Given the description of an element on the screen output the (x, y) to click on. 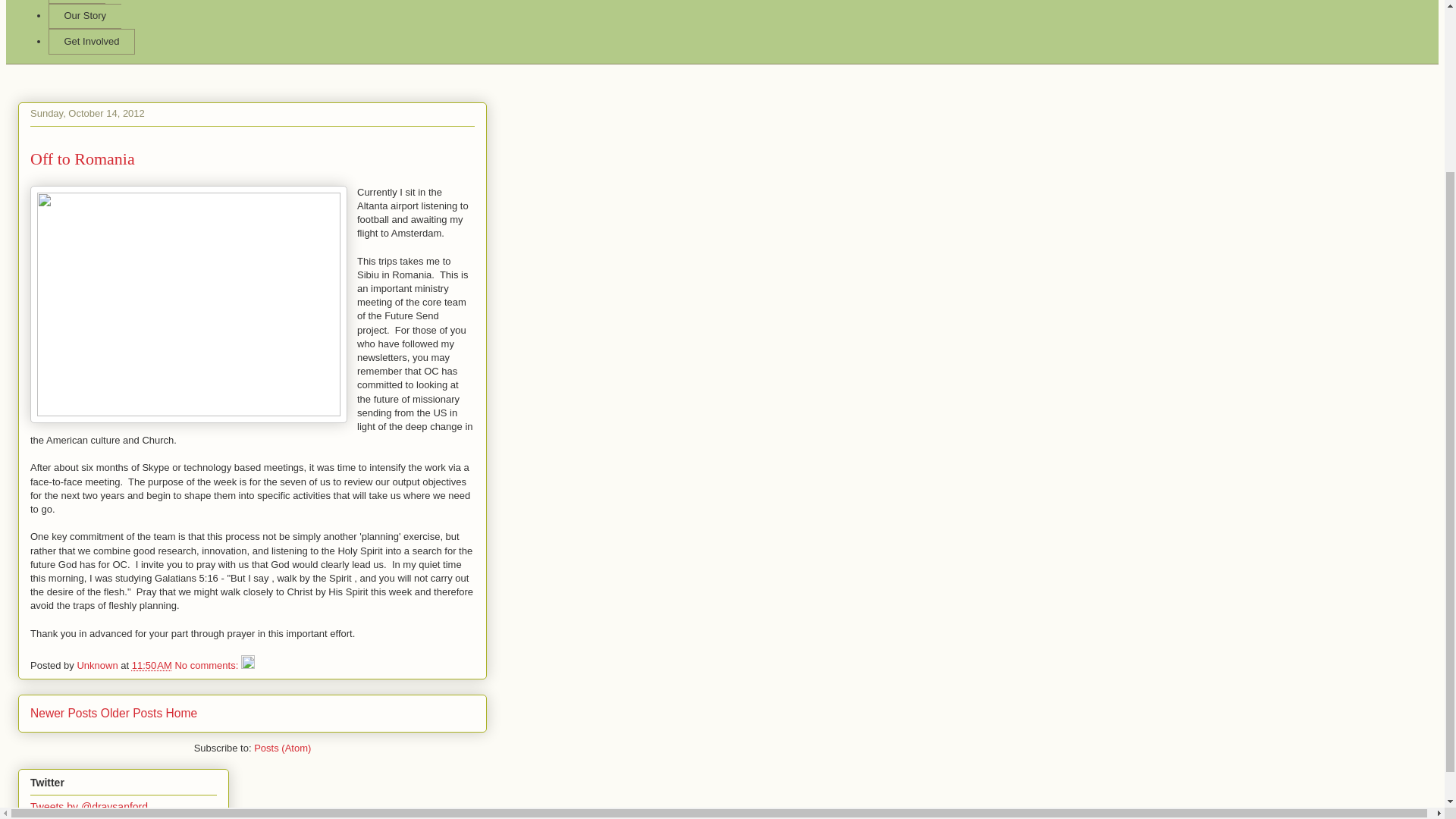
Older Posts (130, 712)
permanent link (151, 665)
No comments: (207, 665)
Unknown (98, 665)
author profile (98, 665)
Edit Post (247, 665)
Newer Posts (63, 712)
Home (181, 712)
Newer Posts (63, 712)
